Given the description of an element on the screen output the (x, y) to click on. 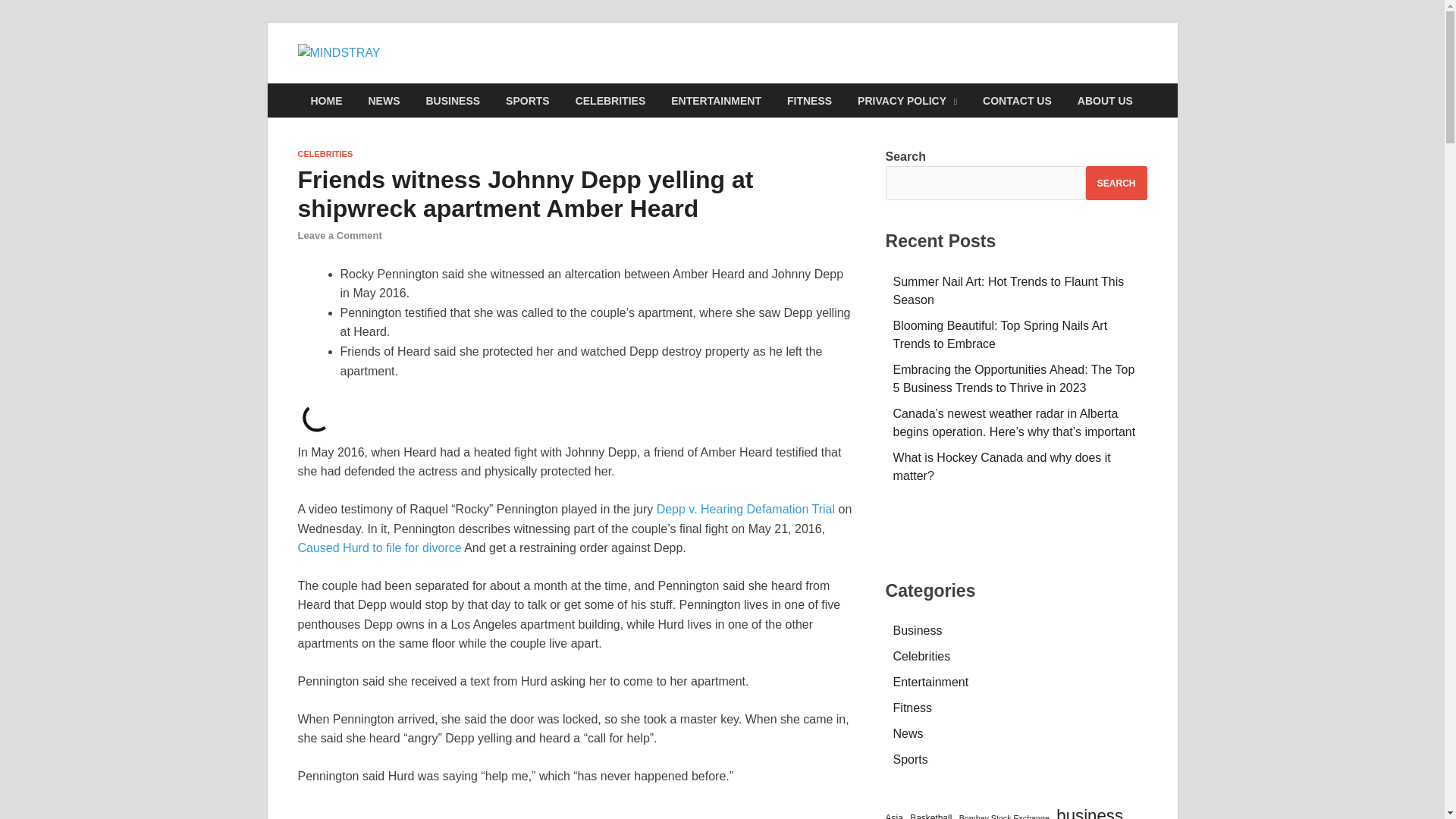
ENTERTAINMENT (716, 100)
loadingSomething is loading. (315, 417)
HOME (326, 100)
SPORTS (527, 100)
Leave a Comment (339, 235)
MINDSTRAY (471, 74)
PRIVACY POLICY (906, 100)
BUSINESS (452, 100)
NEWS (383, 100)
ABOUT US (1104, 100)
